Given the description of an element on the screen output the (x, y) to click on. 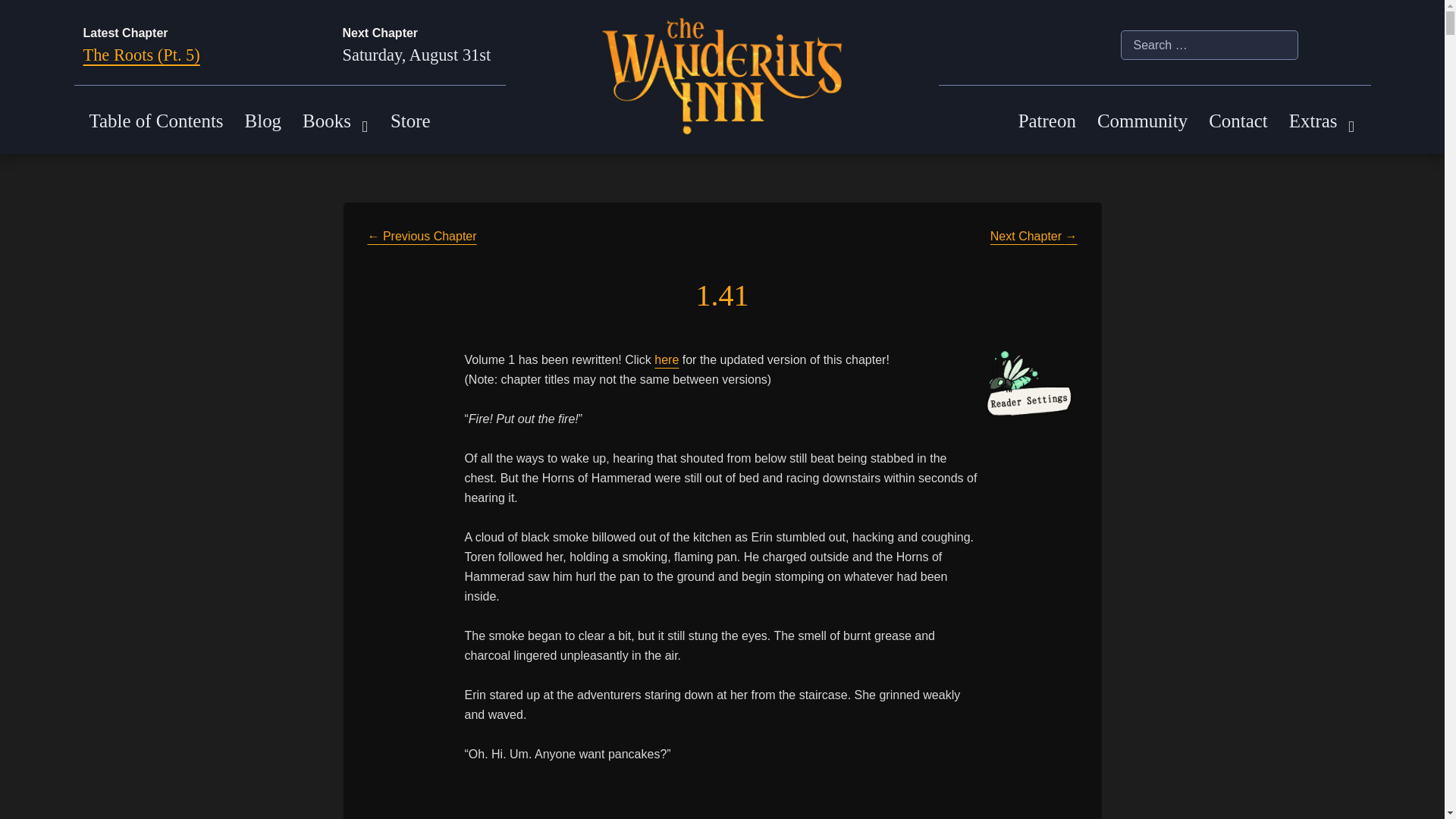
Blog (263, 121)
Search (21, 7)
Table of Contents (156, 121)
Books (326, 121)
